Given the description of an element on the screen output the (x, y) to click on. 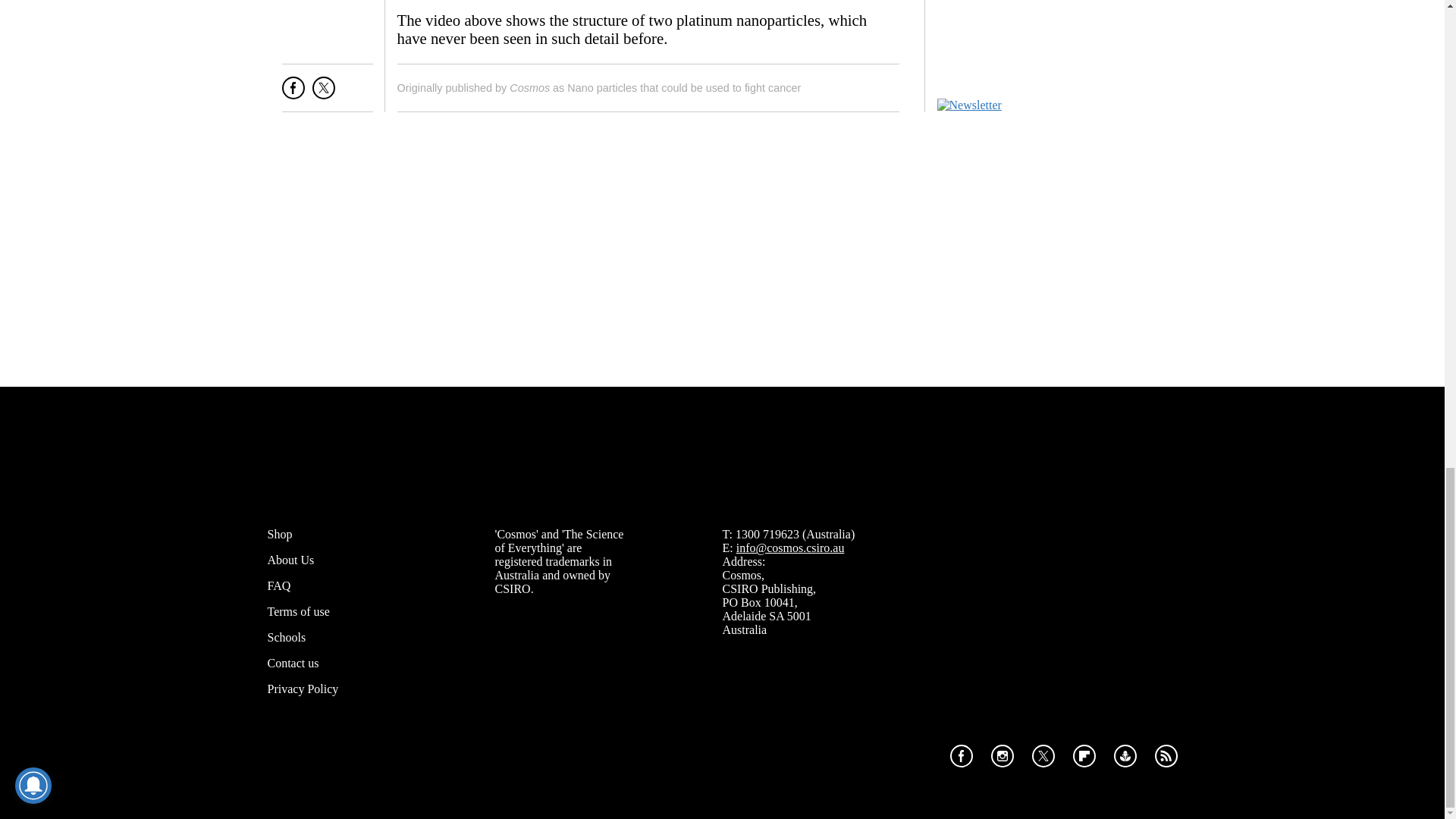
Tweet (323, 93)
Share on Facebook (293, 93)
Nano particles that could be used to fight cancer (683, 87)
